Given the description of an element on the screen output the (x, y) to click on. 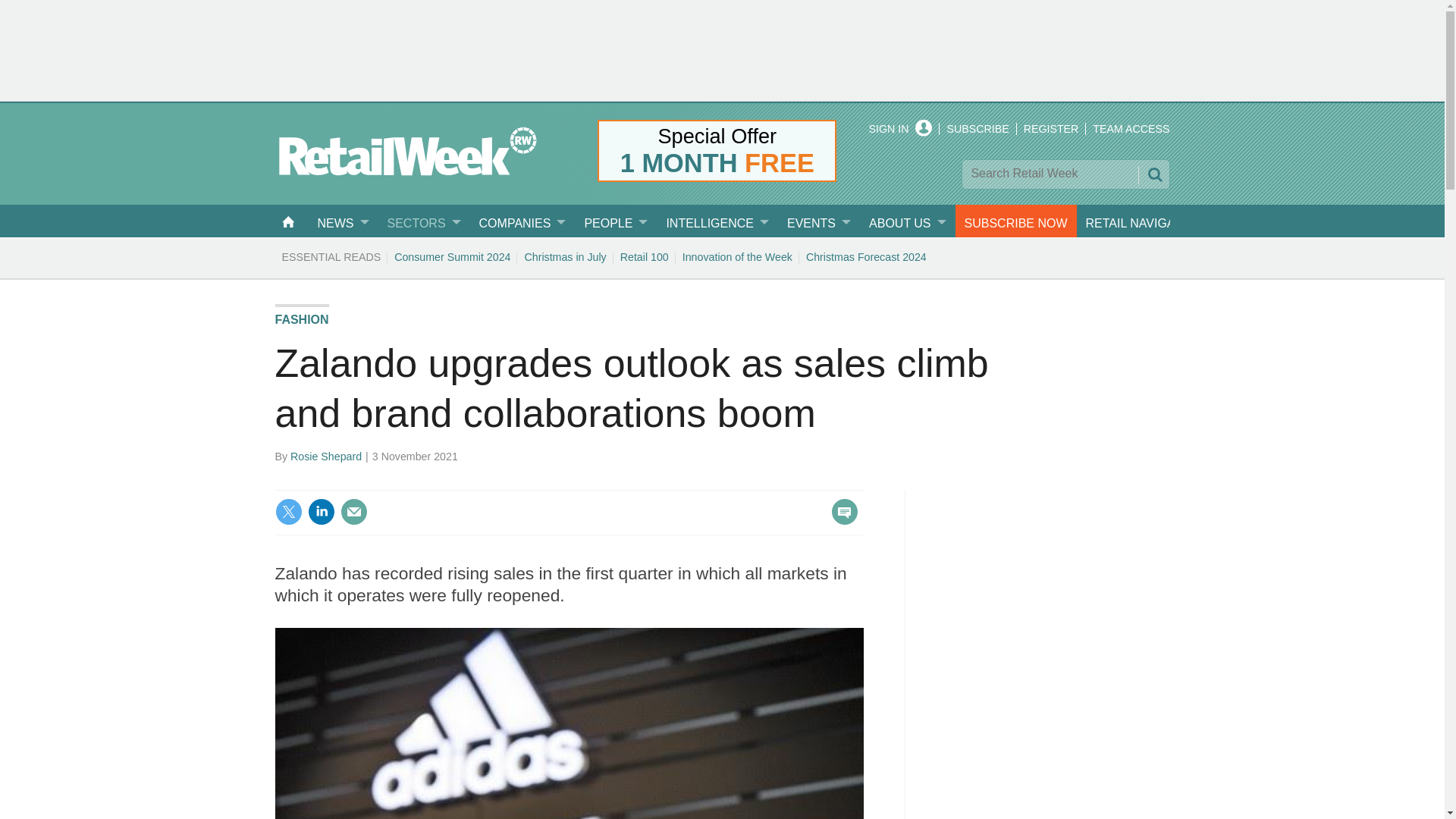
Innovation of the Week (737, 256)
REGISTER (1050, 128)
Retail 100 (643, 256)
Christmas in July (564, 256)
SUBSCRIBE (977, 128)
Share this on Twitter (288, 511)
Email this article (352, 511)
Share this on Linked in (320, 511)
1 MONTH FREE (716, 163)
No comments (840, 520)
TEAM ACCESS (1131, 128)
Consumer Summit 2024 (451, 256)
Christmas Forecast 2024 (866, 256)
SEARCH (1153, 174)
SIGN IN (901, 128)
